Given the description of an element on the screen output the (x, y) to click on. 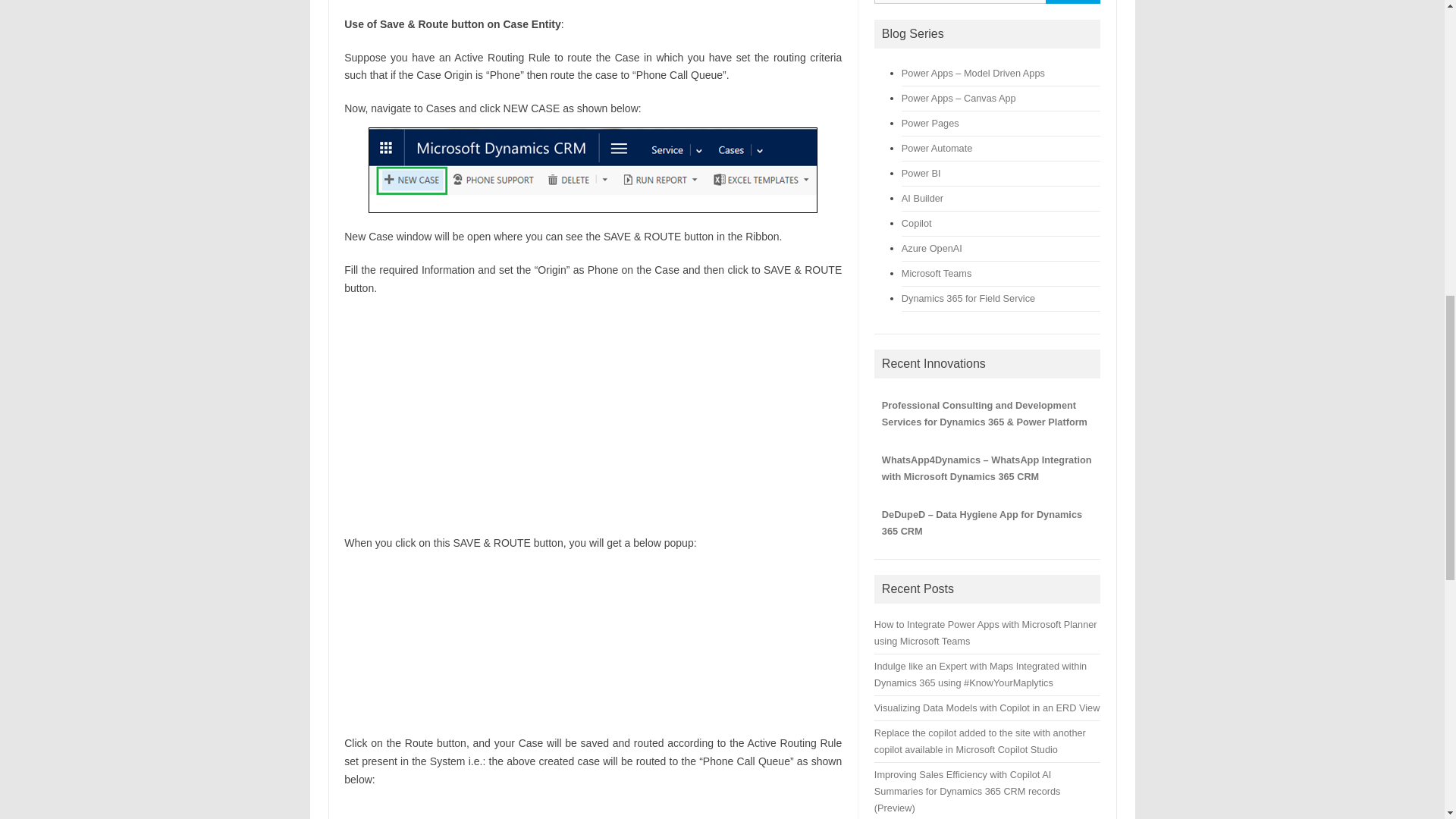
Search (1072, 2)
